Given the description of an element on the screen output the (x, y) to click on. 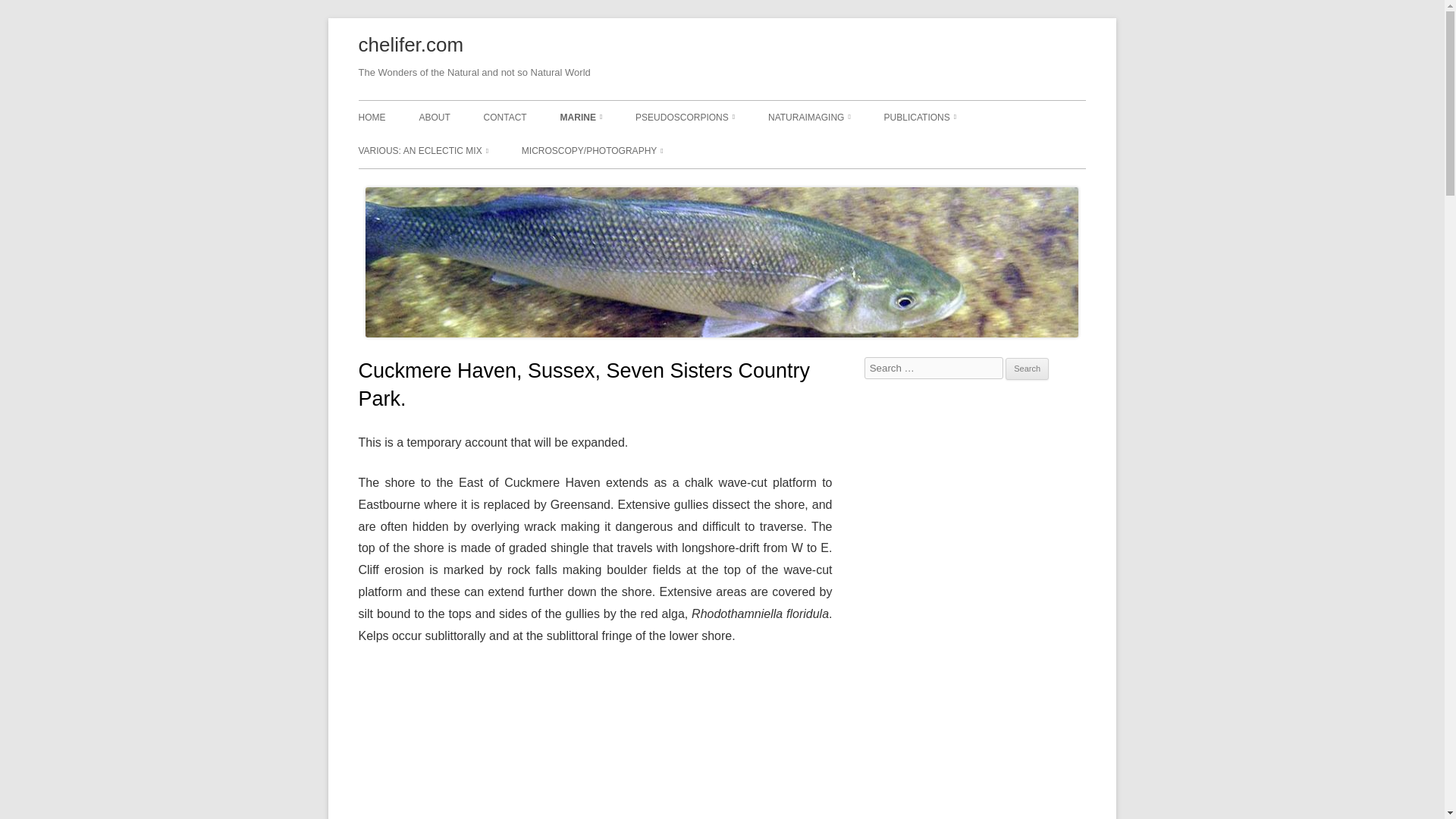
Search (1027, 368)
MARINE (581, 117)
Search (1027, 368)
chelifer.com (410, 45)
ABOUT (434, 117)
SUSSEX MARINE (635, 149)
CONTACT (505, 117)
chelifer.com (410, 45)
